Given the description of an element on the screen output the (x, y) to click on. 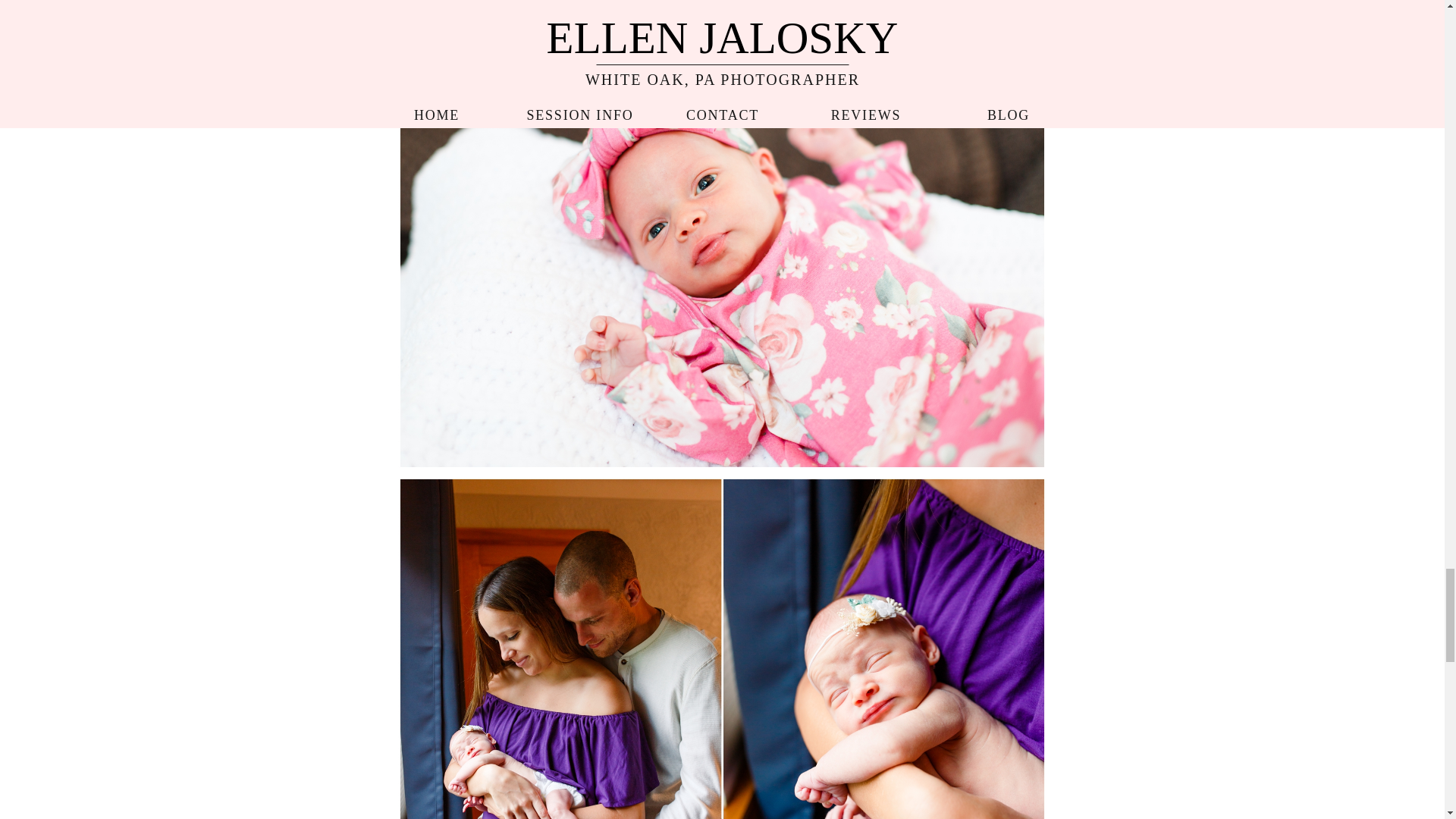
At Home Newborn Photos (721, 13)
